Given the description of an element on the screen output the (x, y) to click on. 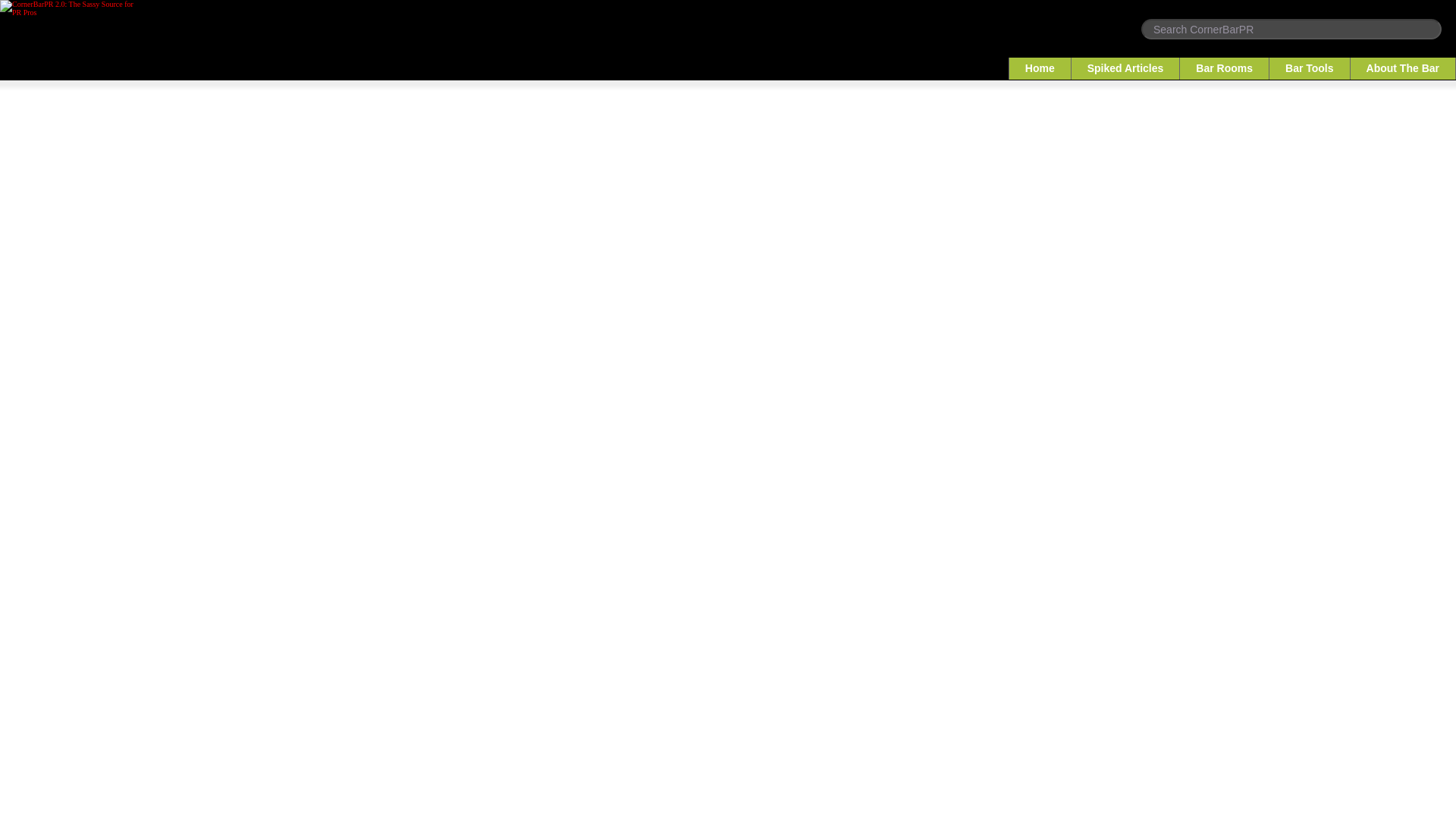
Bar Rooms (1224, 68)
Home (1040, 68)
Return To The CornerBarPR Home Page (70, 12)
Search CornerBarPR (1291, 28)
Bar Tools (1310, 68)
Spiked Articles (1125, 68)
